Given the description of an element on the screen output the (x, y) to click on. 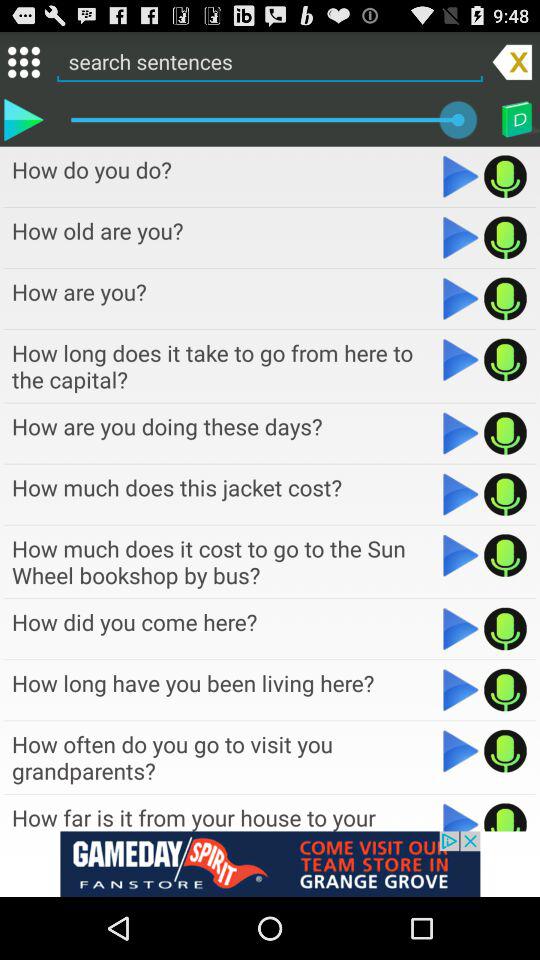
go to play (460, 628)
